Given the description of an element on the screen output the (x, y) to click on. 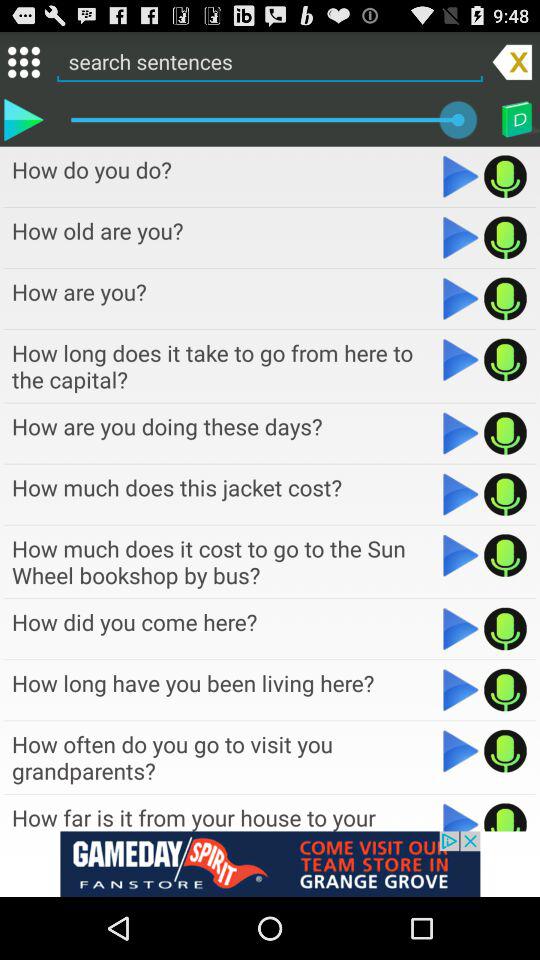
go to play (460, 628)
